Given the description of an element on the screen output the (x, y) to click on. 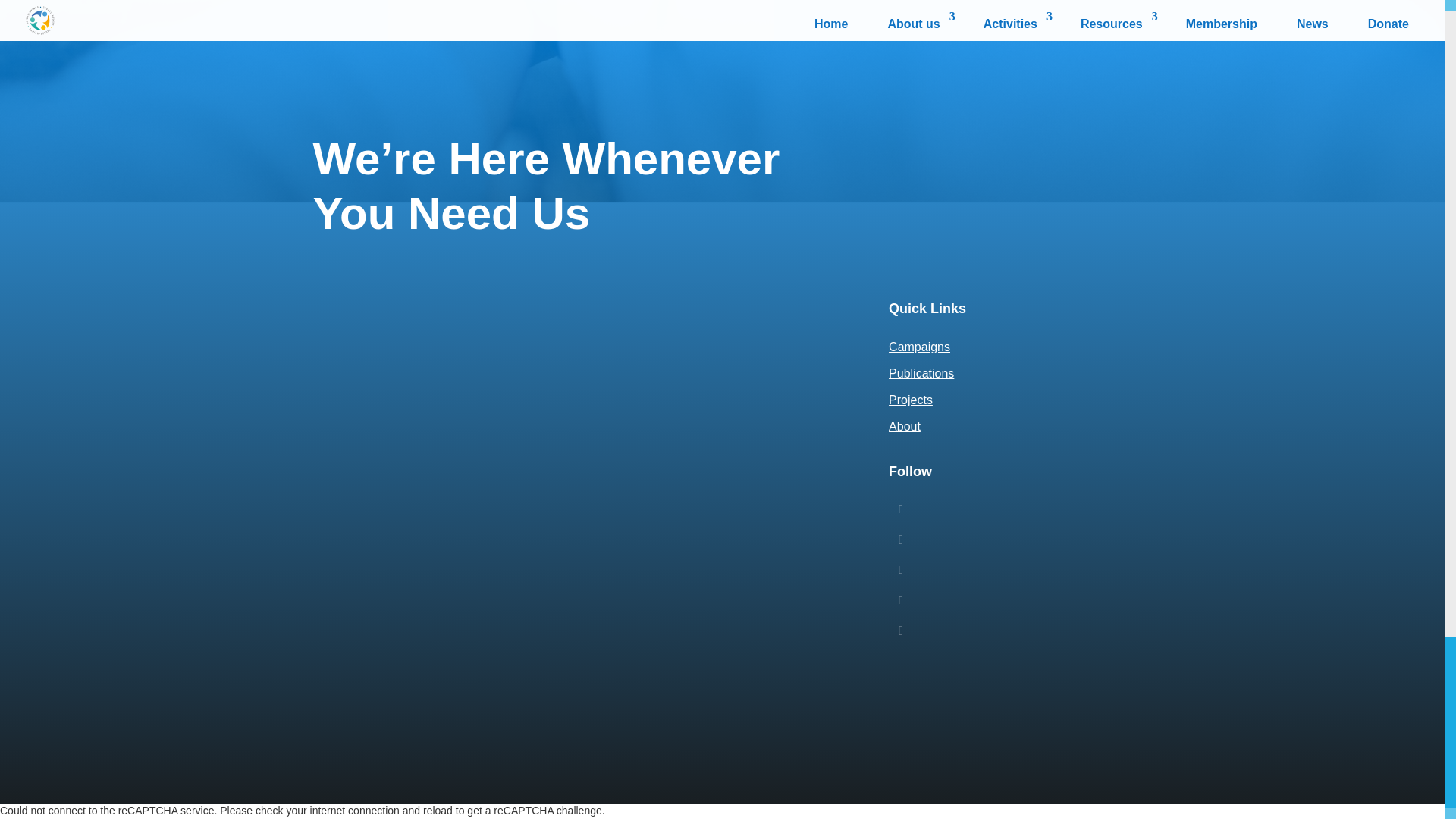
Follow on Instagram (900, 630)
Follow on LinkedIn (900, 509)
Follow on Facebook (900, 569)
Follow on Youtube (900, 600)
Follow on X (900, 539)
